Given the description of an element on the screen output the (x, y) to click on. 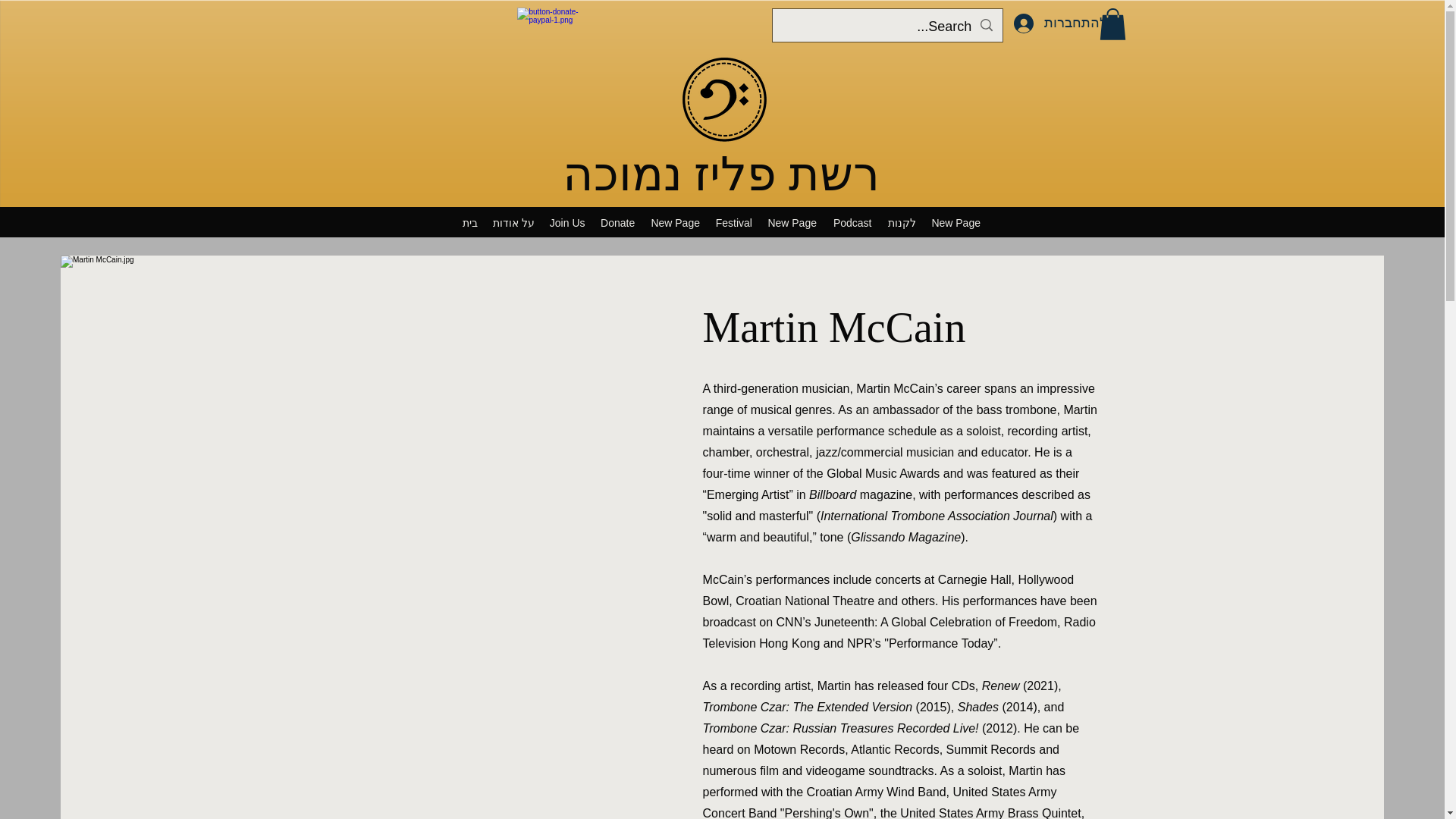
New Page (955, 222)
New Page (792, 222)
New Page (675, 222)
Donate (617, 222)
Podcast (852, 222)
Join Us (566, 222)
Festival (733, 222)
